Given the description of an element on the screen output the (x, y) to click on. 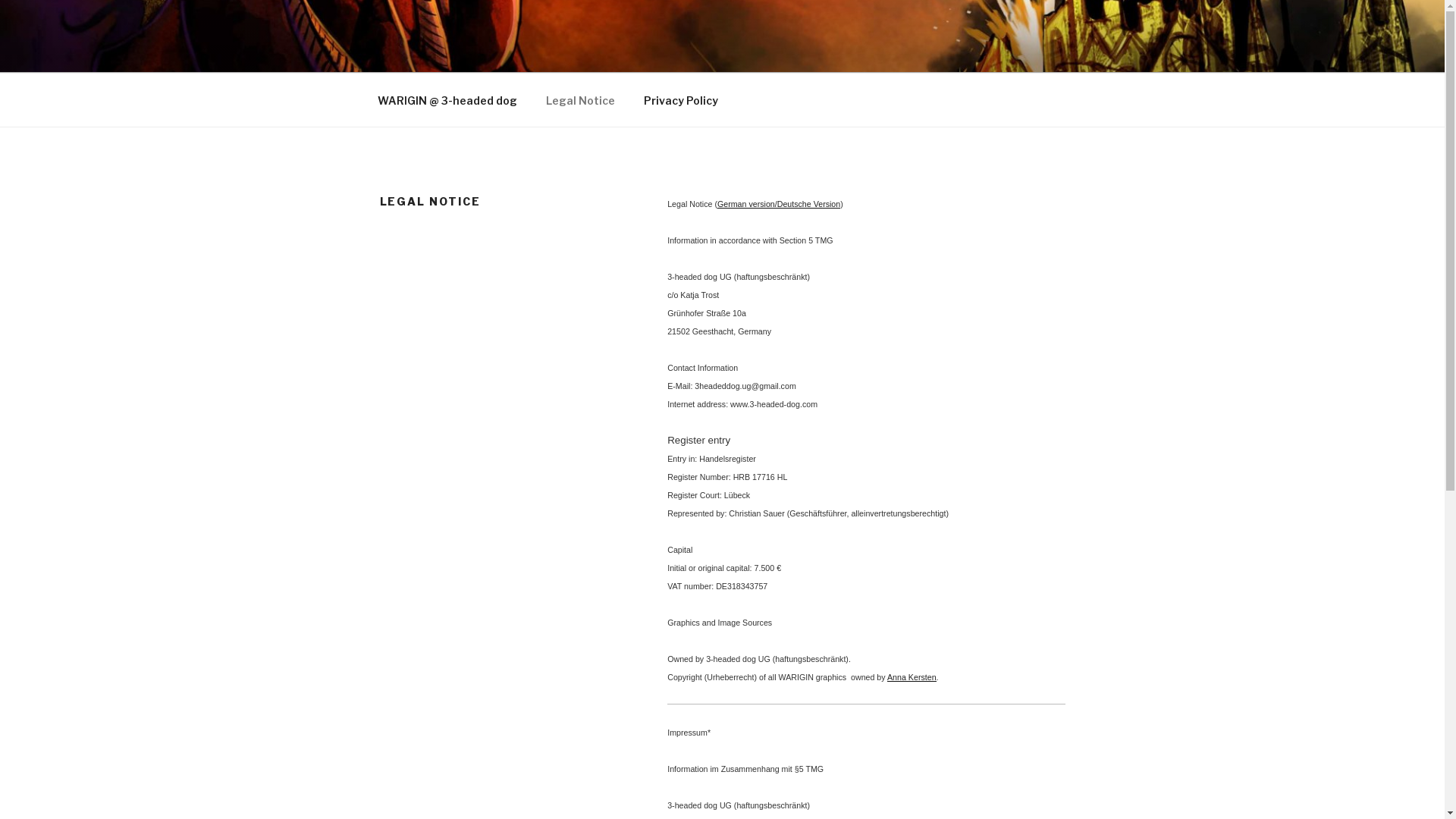
German version/Deutsche Version Element type: text (778, 203)
Anna Kersten Element type: text (911, 676)
Legal Notice Element type: text (579, 100)
Privacy Policy Element type: text (680, 100)
WARIGIN @ 3-headed dog Element type: text (447, 100)
